Given the description of an element on the screen output the (x, y) to click on. 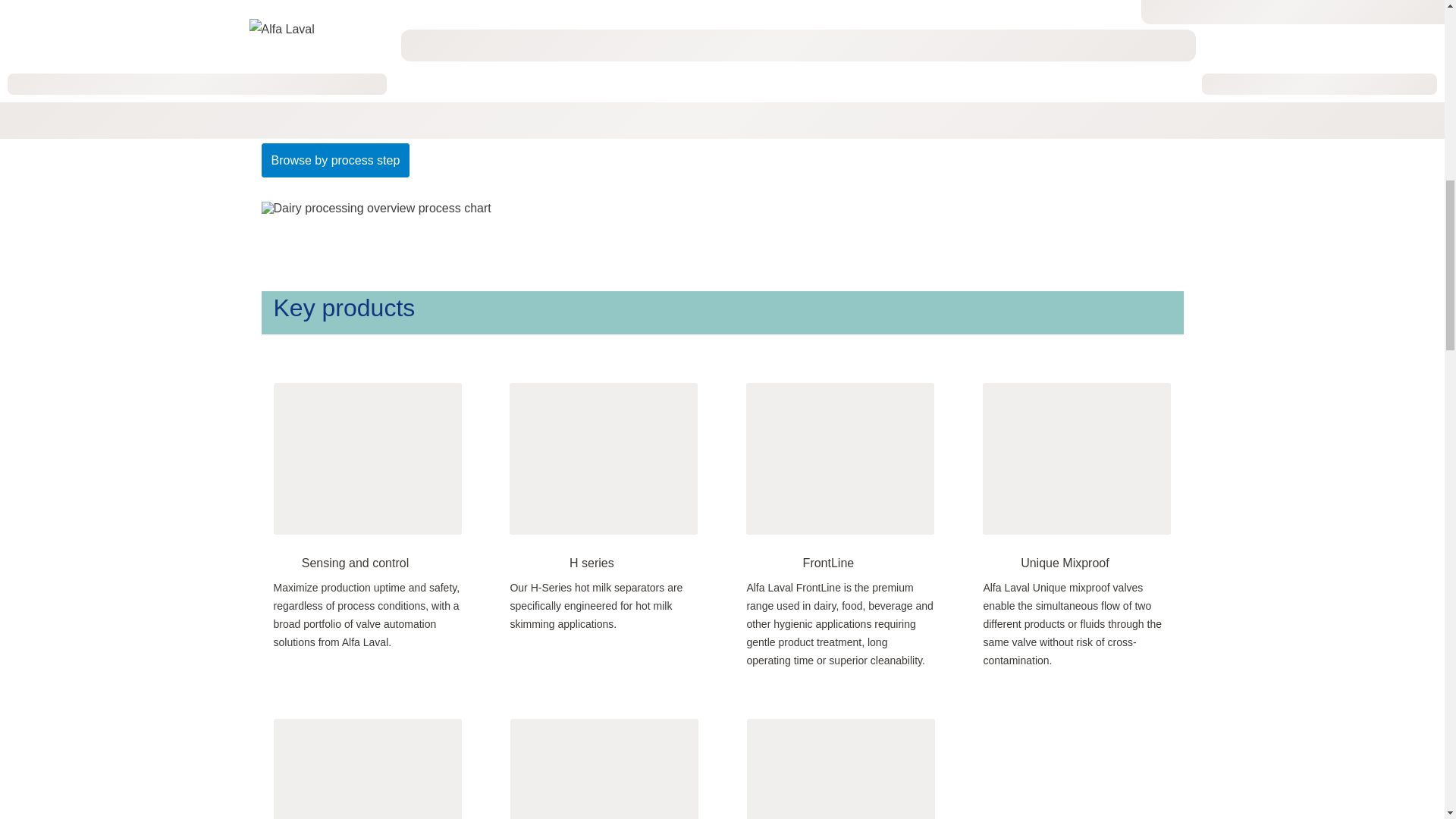
Browse by process step (334, 160)
